Given the description of an element on the screen output the (x, y) to click on. 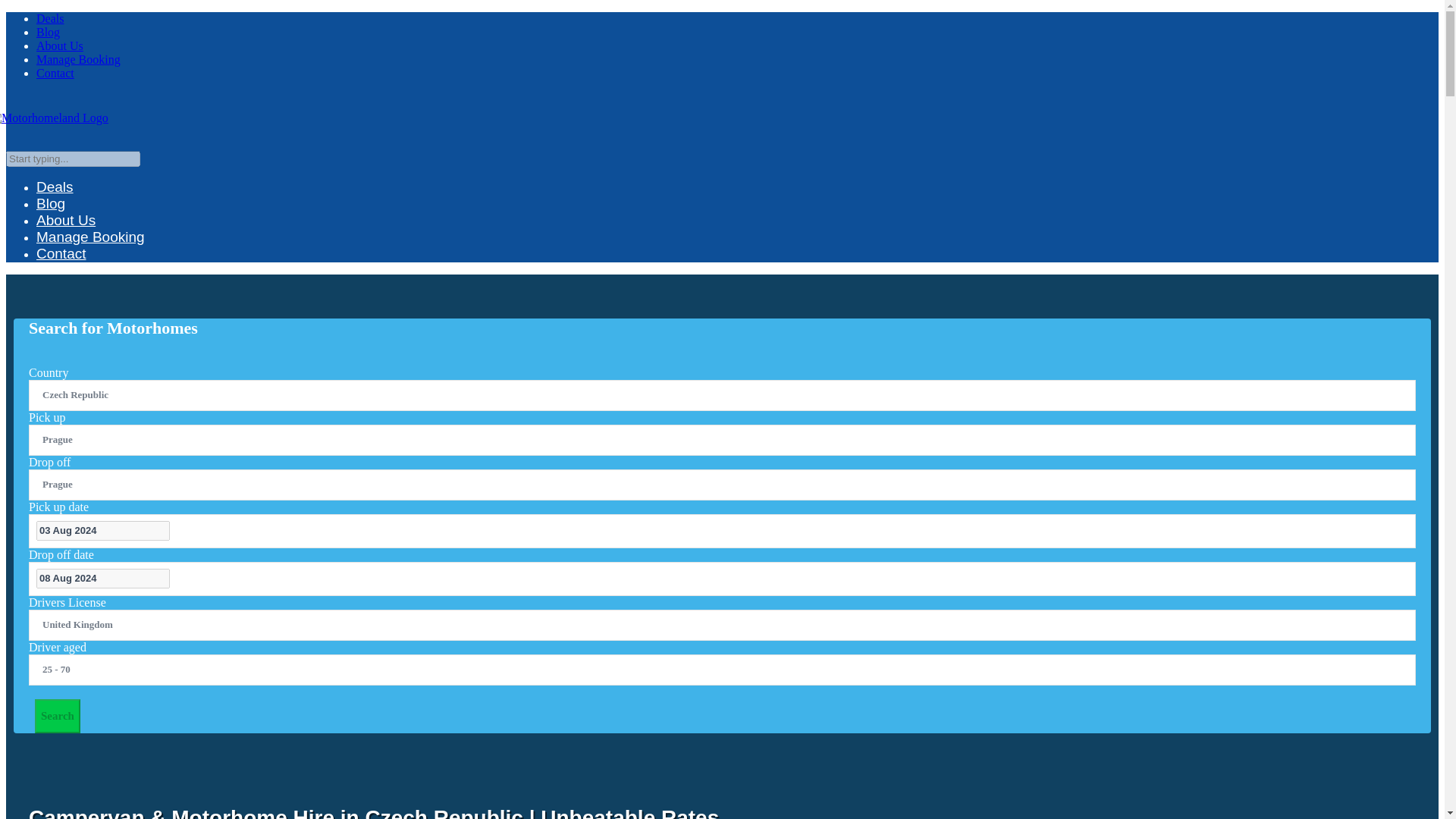
Contact (55, 72)
Manage Booking (78, 59)
Deals (50, 18)
08 Aug 2024 (103, 578)
Manage Booking (90, 255)
About Us (66, 239)
About Us (59, 45)
03 Aug 2024 (103, 529)
Contact (60, 272)
Blog (47, 31)
Search (57, 716)
